Given the description of an element on the screen output the (x, y) to click on. 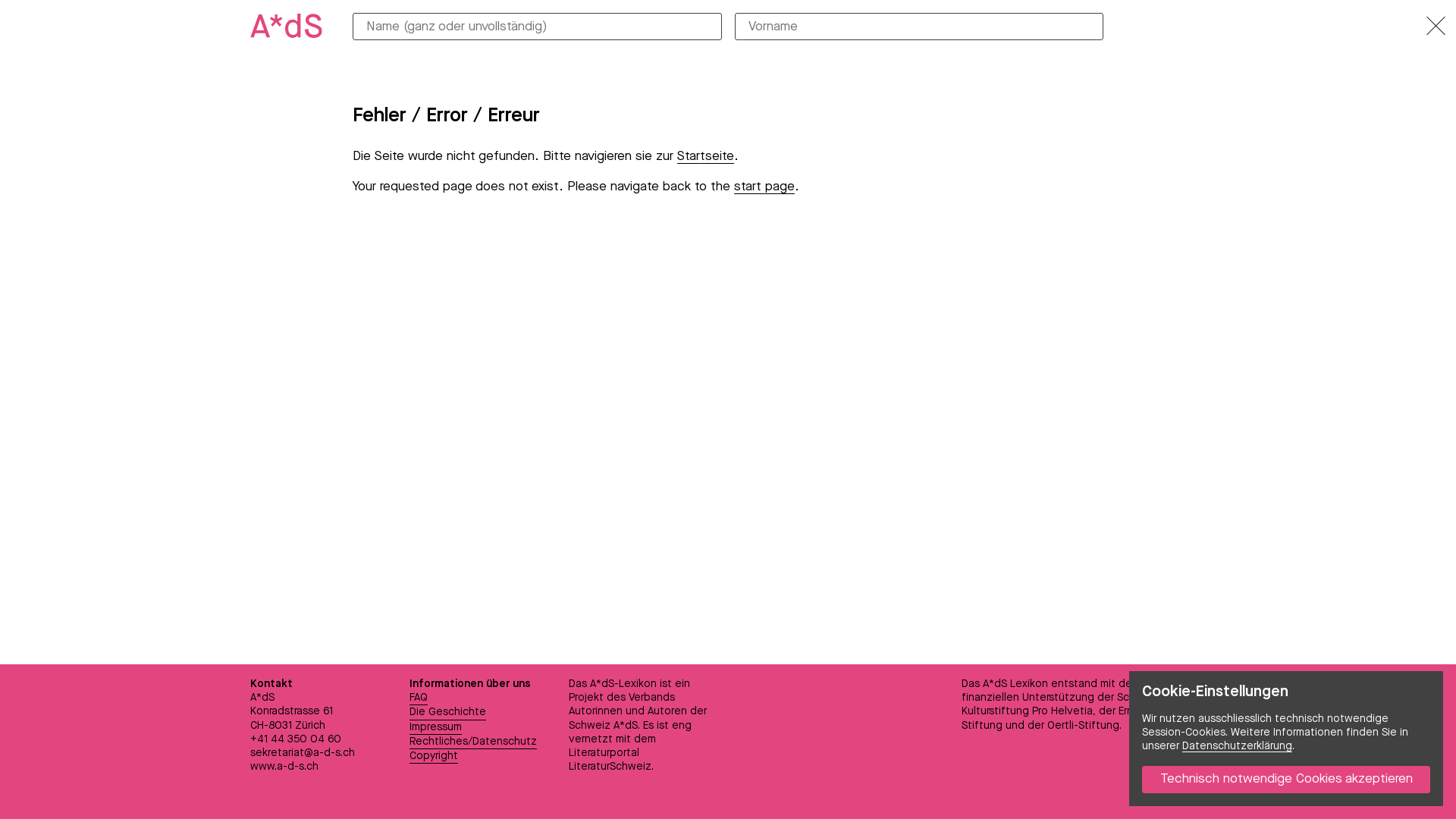
sekretariat@a-d-s.ch Element type: text (302, 752)
Rechtliches/Datenschutz Element type: text (472, 741)
Pro Helvetia Element type: text (1062, 711)
FAQ Element type: text (418, 697)
Copyright Element type: text (433, 756)
Technisch notwendige Cookies akzeptieren Element type: text (1286, 779)
www.a-d-s.ch Element type: text (284, 766)
Startseite Element type: text (705, 156)
Die Geschichte Element type: text (447, 712)
Literaturportal LiteraturSchweiz Element type: text (609, 759)
start page Element type: text (764, 187)
Impressum Element type: text (435, 727)
Oertli-Stiftung Element type: text (1083, 725)
A*dS Element type: text (625, 725)
